Given the description of an element on the screen output the (x, y) to click on. 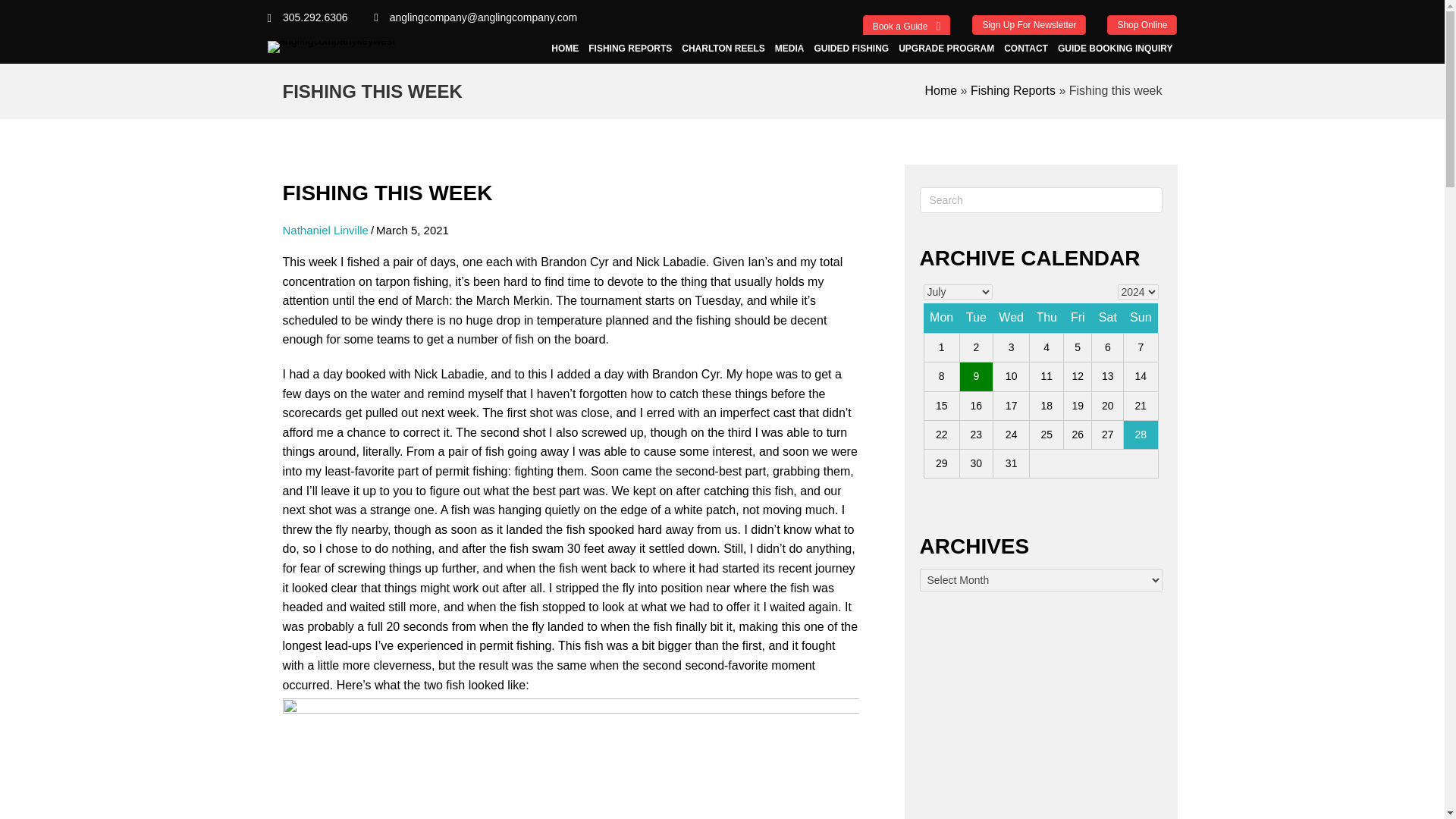
Friday (1077, 317)
GUIDE BOOKING INQUIRY (1114, 49)
Monday (941, 317)
Wednesday (1010, 317)
GUIDED FISHING (851, 49)
anglingcompanykeywest (330, 46)
Home (940, 90)
Shop Online (1141, 25)
Nathaniel Linville (325, 229)
CONTACT (1025, 49)
FISHING REPORTS (630, 49)
Sunday (1140, 317)
Book a Guide (906, 26)
Type and press Enter to search. (1039, 199)
305.292.6306 (314, 17)
